Given the description of an element on the screen output the (x, y) to click on. 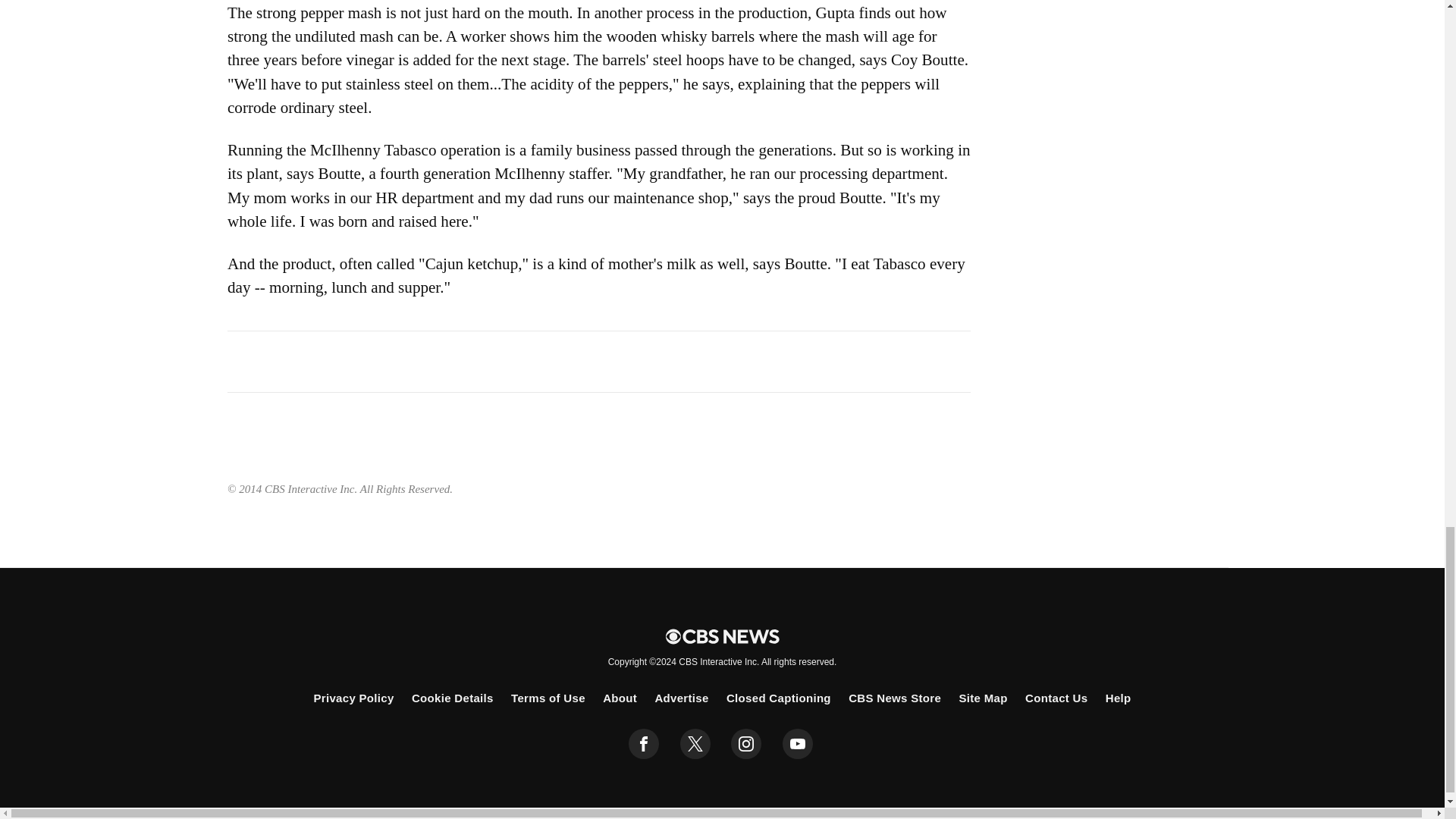
facebook (643, 743)
twitter (694, 743)
youtube (797, 743)
instagram (745, 743)
